Given the description of an element on the screen output the (x, y) to click on. 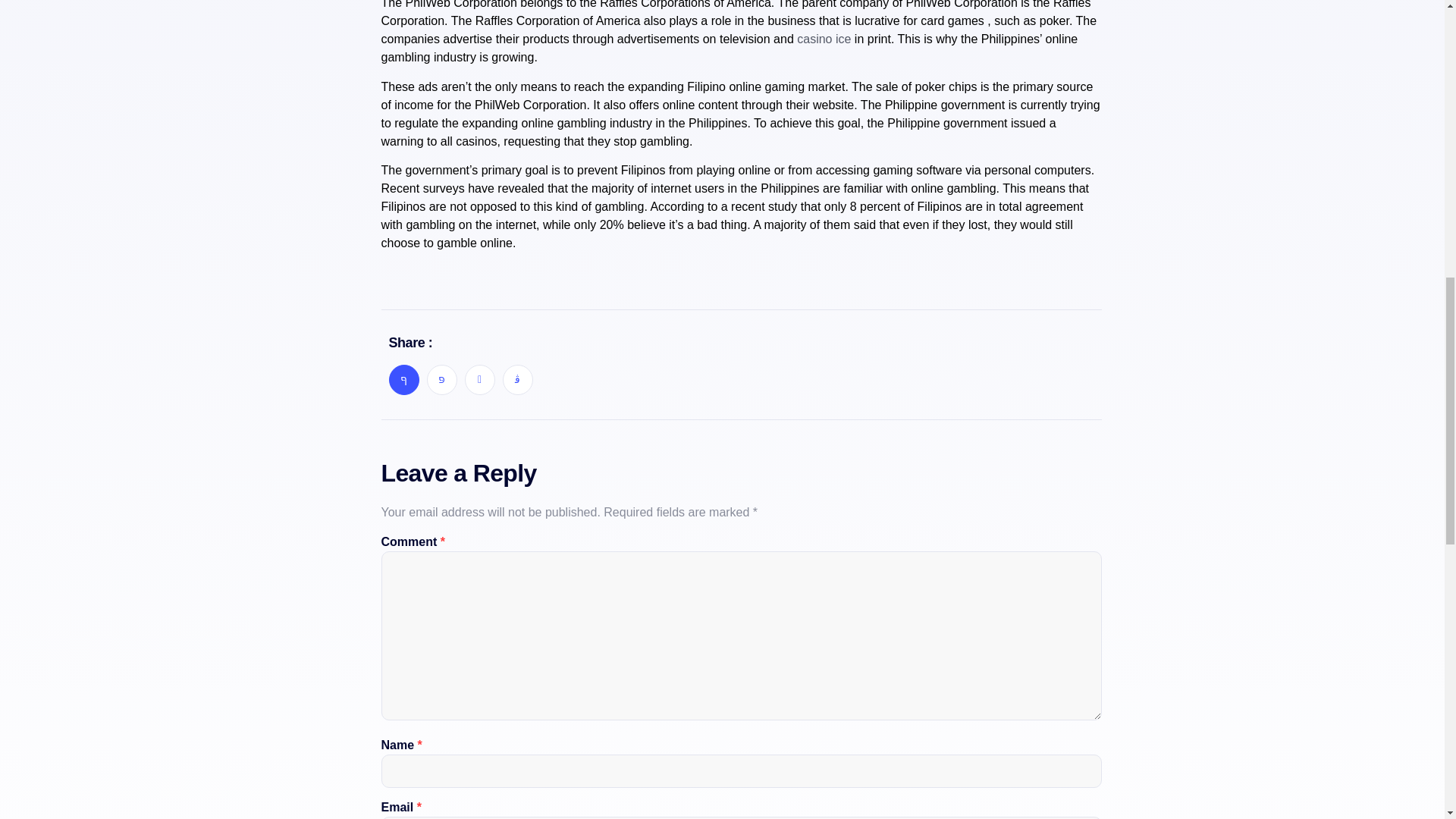
casino ice (823, 38)
